Given the description of an element on the screen output the (x, y) to click on. 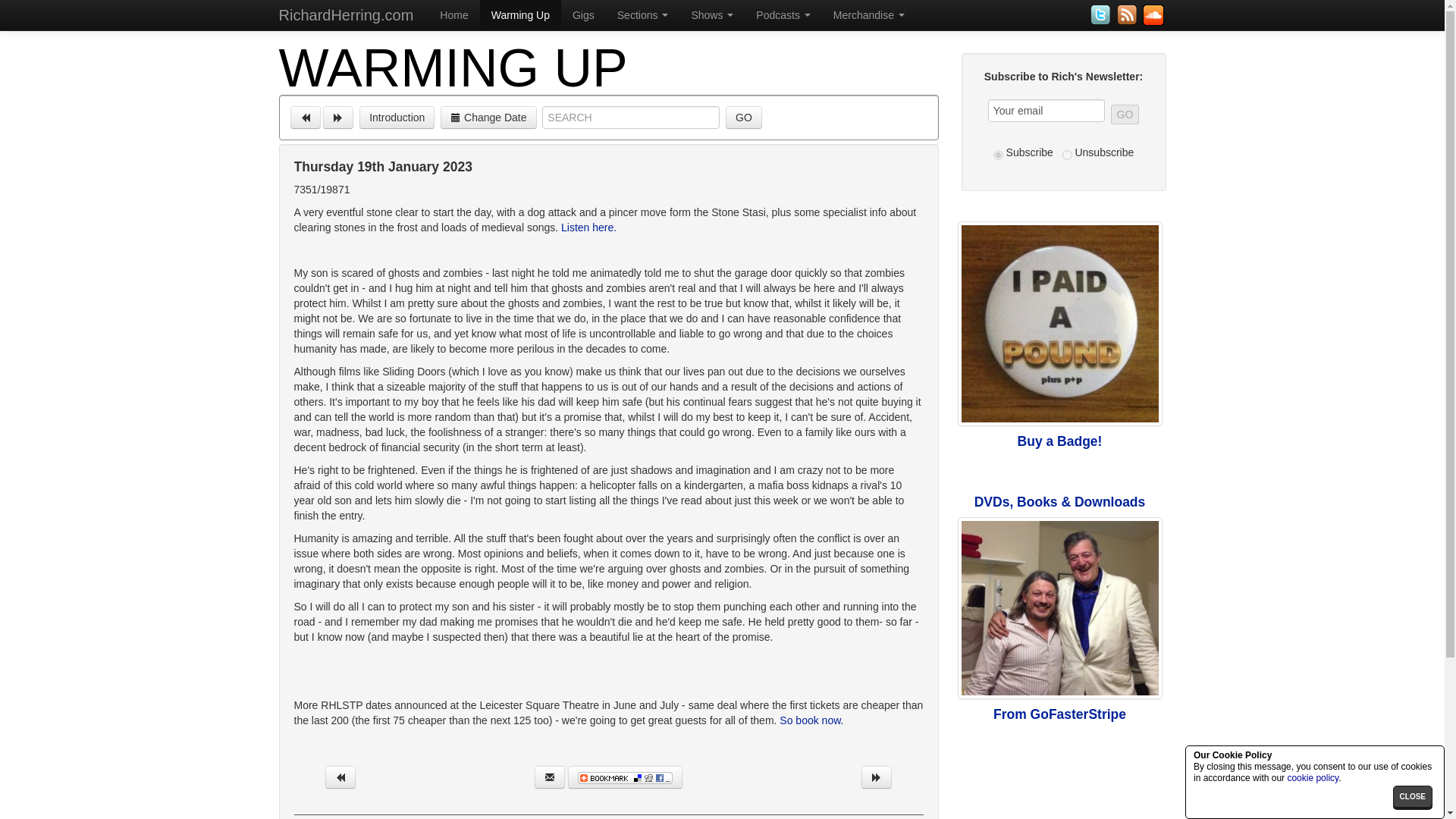
Home (453, 15)
subscribe (997, 154)
GO (743, 117)
Friday 20th January 2023 (876, 776)
Warming Up (520, 15)
RSS Feed (1128, 14)
Friday 20th January 2023 (338, 117)
Gigs (582, 15)
Shows (711, 15)
RichardHerring.com (346, 15)
Wednesday 18th January 2023 (339, 776)
SoundCloud (1153, 14)
Podcasts (782, 15)
Sections (642, 15)
GO (1123, 114)
